Given the description of an element on the screen output the (x, y) to click on. 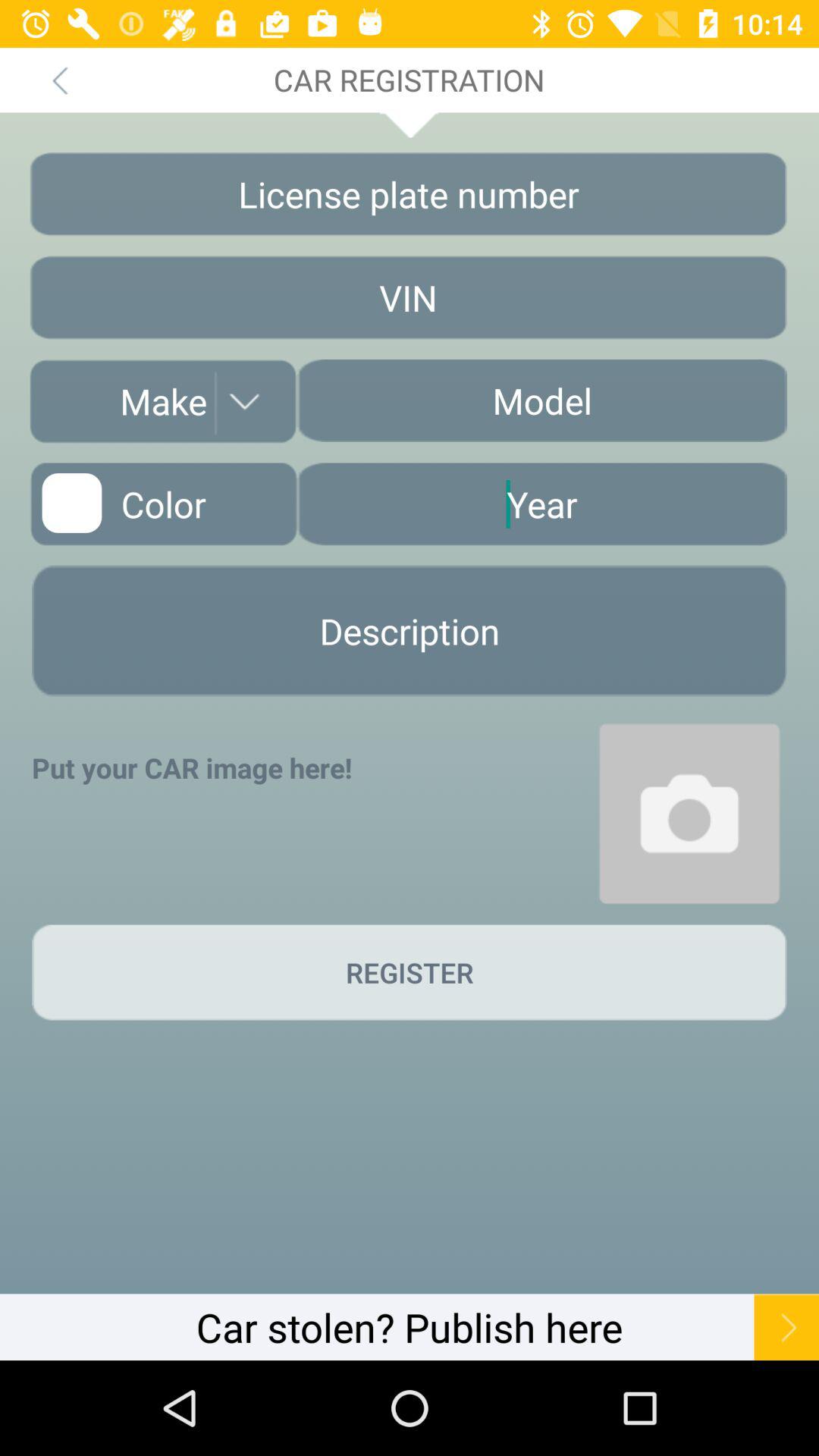
make of car (163, 401)
